Given the description of an element on the screen output the (x, y) to click on. 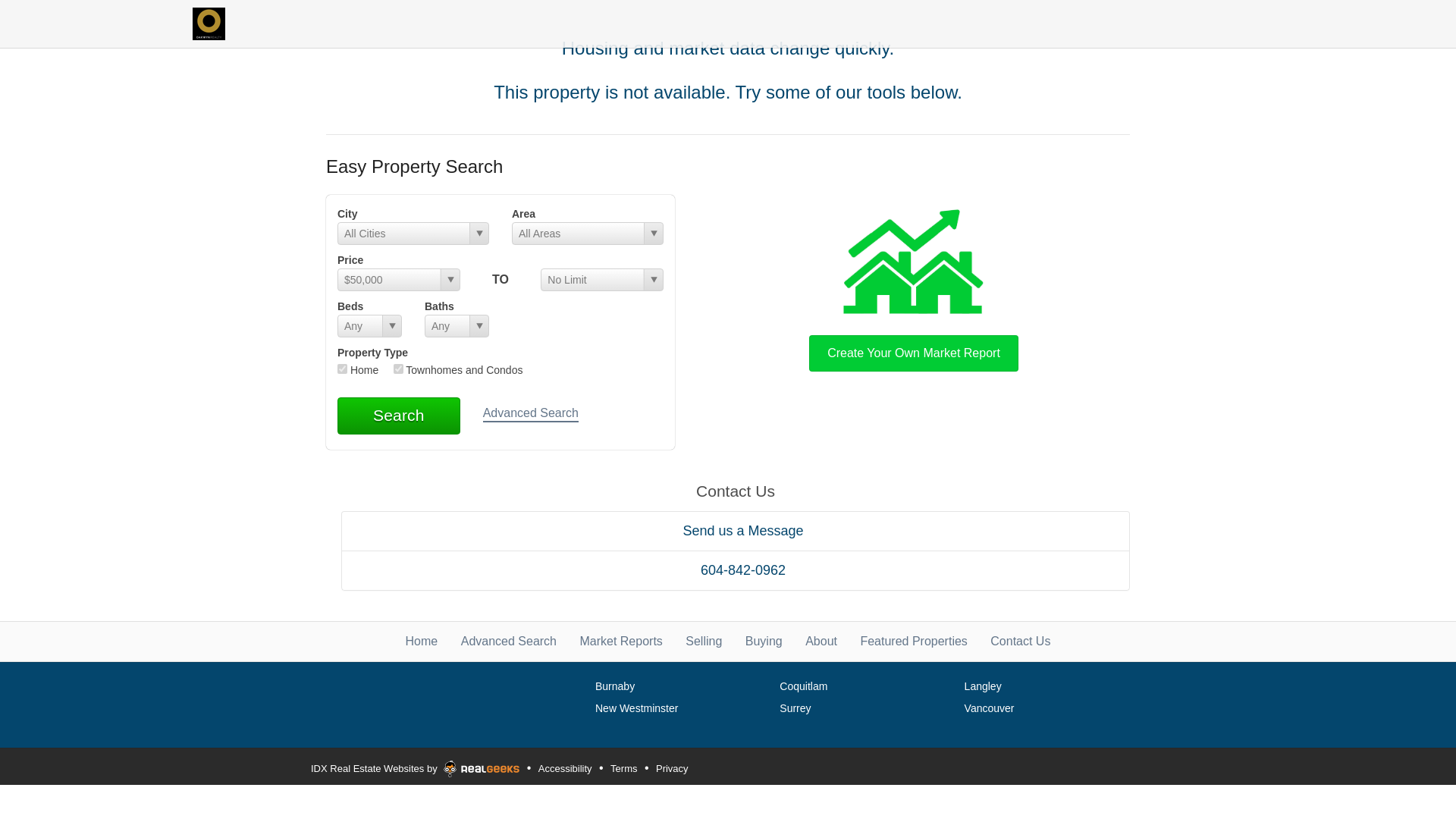
Surrey (794, 707)
Buying (764, 640)
Accessibility (564, 768)
Market Reports (620, 640)
Langley (982, 686)
Send us a Message (734, 530)
Search (398, 415)
About (821, 640)
Home (422, 640)
New Westminster (636, 707)
